Given the description of an element on the screen output the (x, y) to click on. 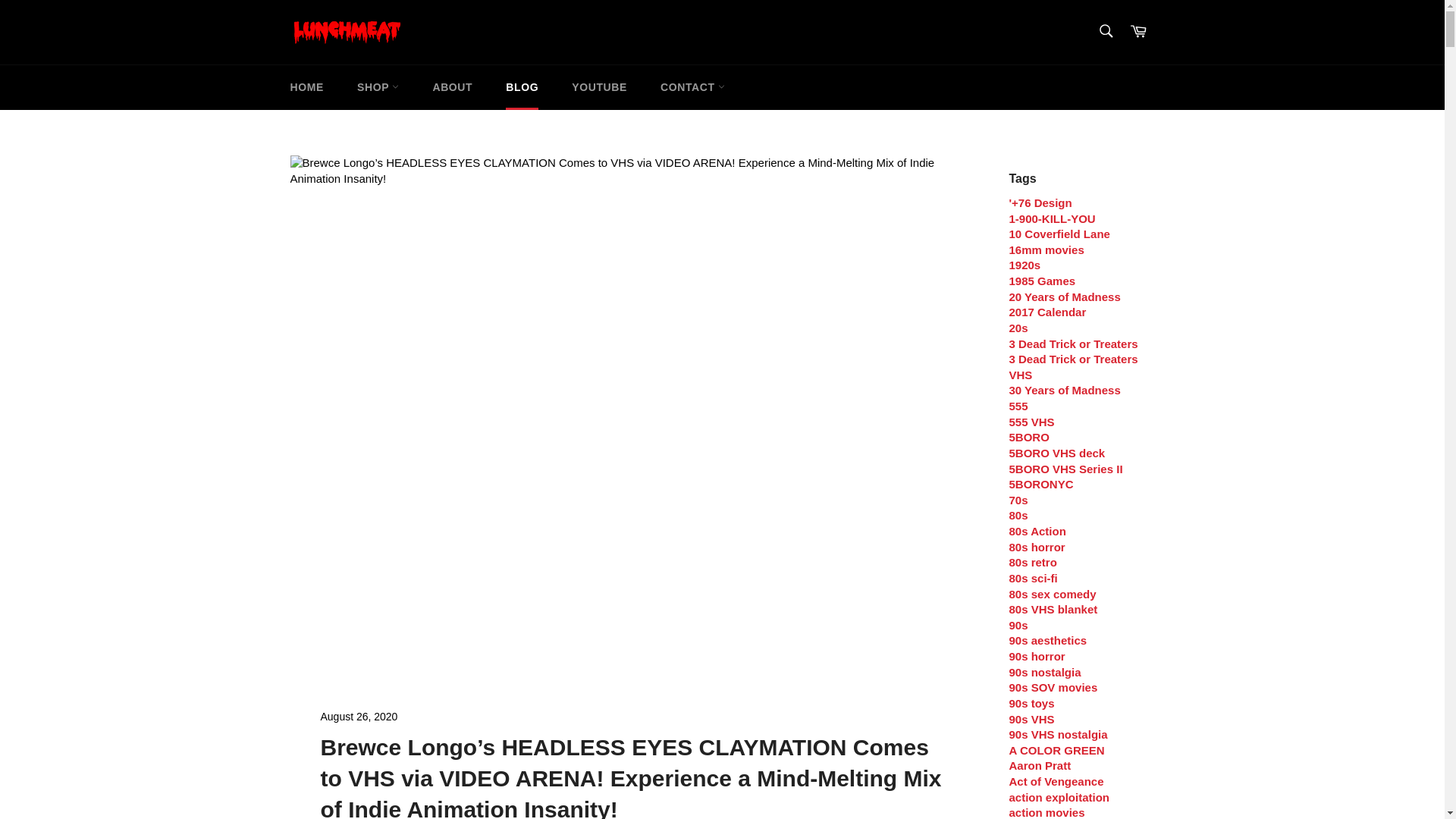
Show articles tagged 1-900-KILL-YOU (1051, 218)
Show articles tagged 30 Years of Madness (1064, 390)
YOUTUBE (599, 87)
Show articles tagged 16mm movies (1046, 249)
Show articles tagged 555 (1018, 405)
Show articles tagged 20 Years of Madness (1064, 296)
Show articles tagged 3 Dead Trick or Treaters VHS (1073, 366)
SHOP (377, 87)
Show articles tagged 2017 Calendar (1047, 311)
BLOG (521, 87)
